Given the description of an element on the screen output the (x, y) to click on. 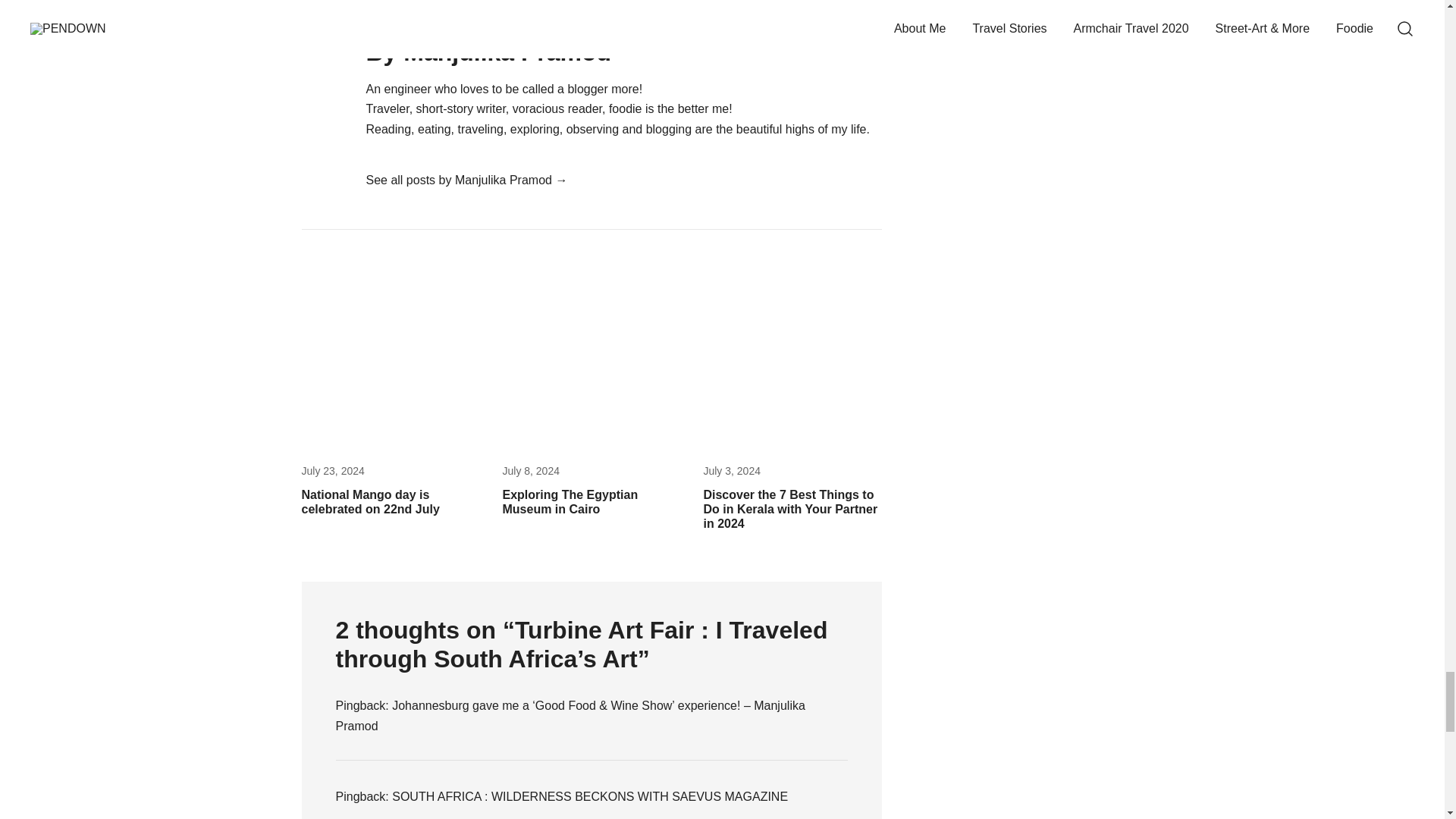
July 23, 2024 (333, 470)
National Mango day is celebrated on 22nd July (370, 501)
July 8, 2024 (530, 470)
